Given the description of an element on the screen output the (x, y) to click on. 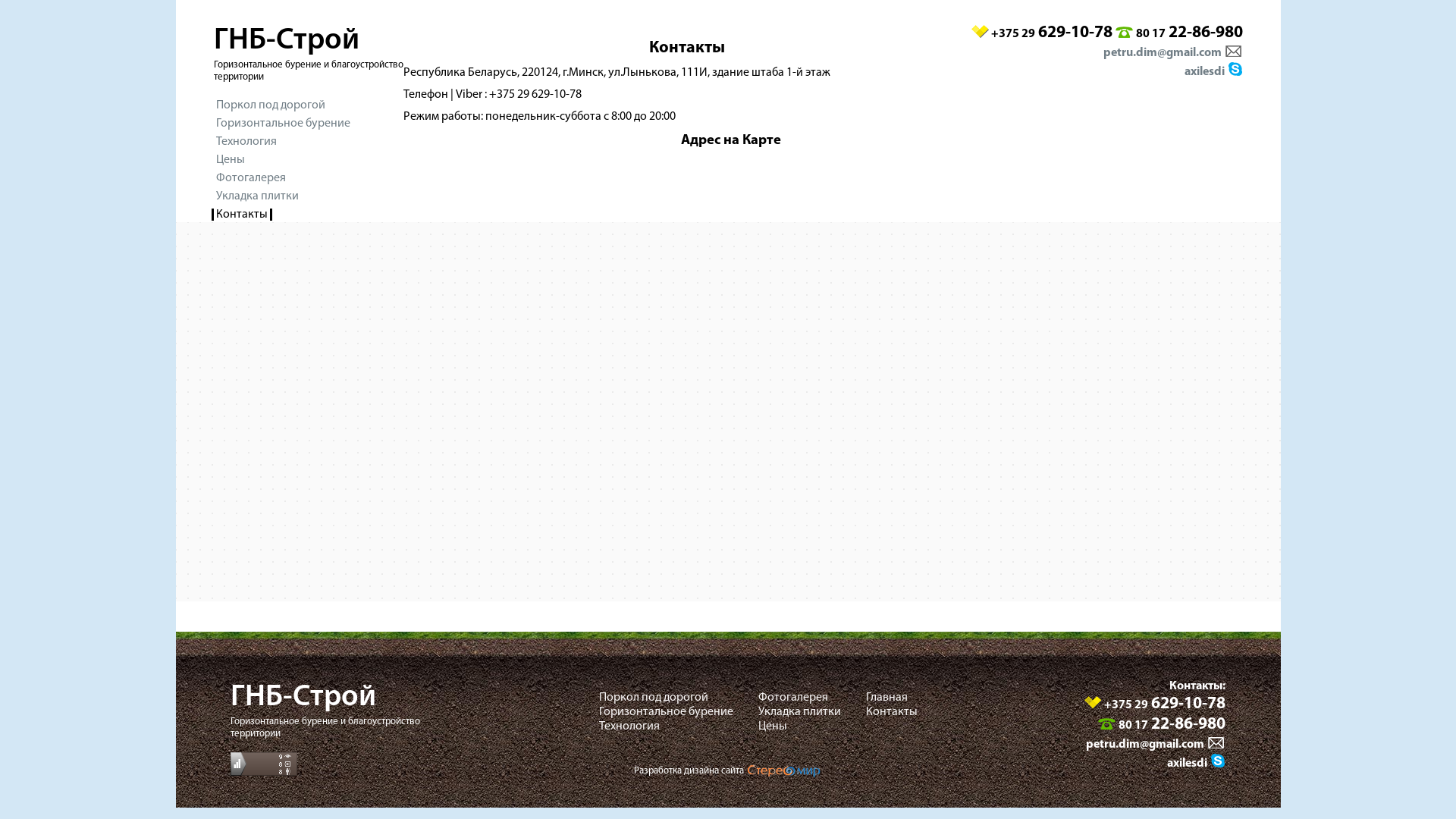
+375 29 629-10-78 Element type: text (1050, 34)
petru.dim@gmail.com Element type: text (1161, 53)
80 17 22-86-980 Element type: text (1188, 34)
+375 29 629-10-78 Element type: text (1164, 705)
80 17 22-86-980 Element type: text (1171, 725)
petru.dim@gmail.com Element type: text (1144, 744)
